Given the description of an element on the screen output the (x, y) to click on. 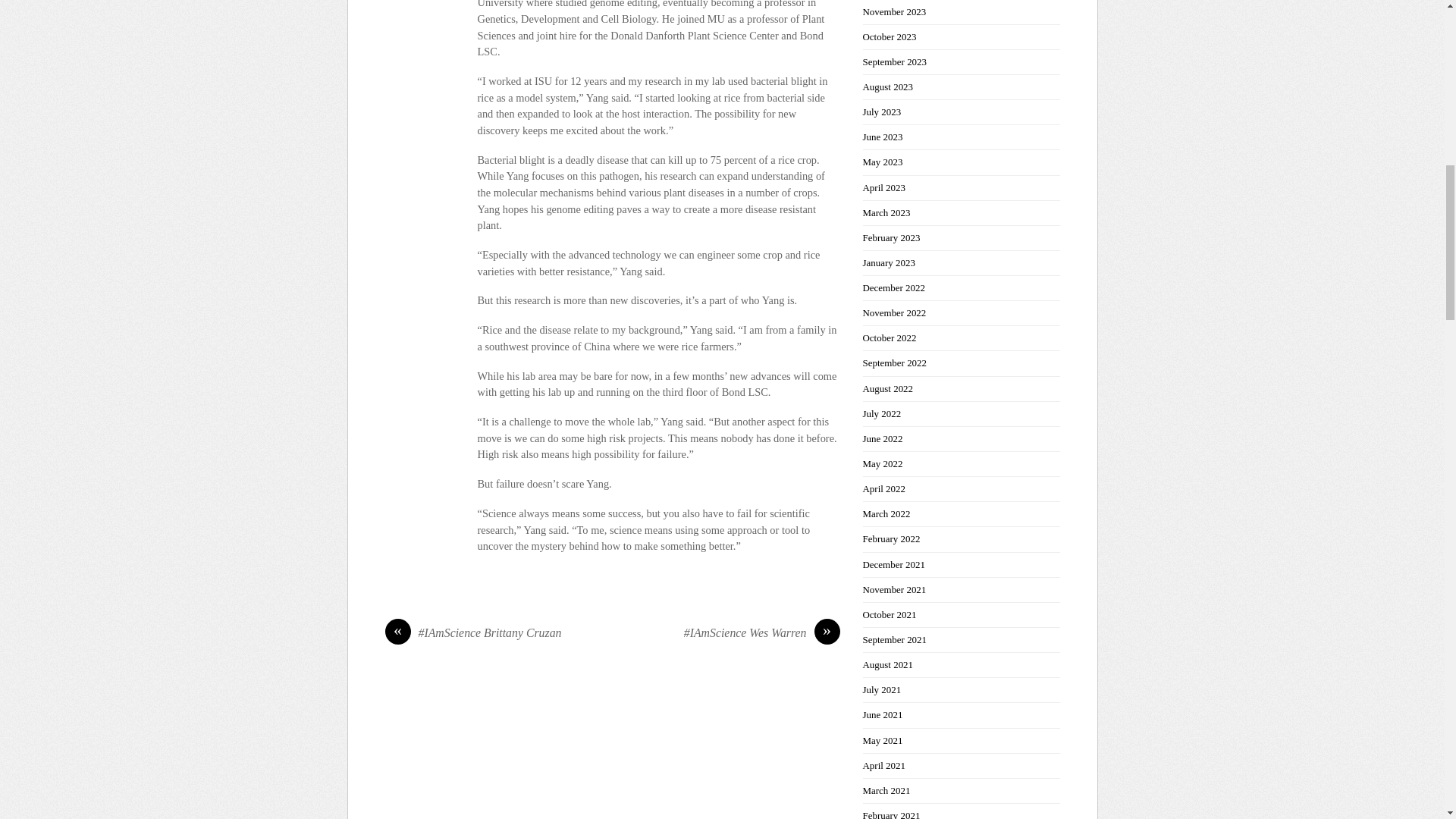
November 2023 (894, 11)
March 2023 (887, 212)
May 2023 (882, 161)
July 2023 (882, 111)
April 2023 (884, 187)
October 2023 (890, 36)
June 2023 (882, 136)
December 2022 (893, 287)
September 2023 (895, 61)
August 2023 (888, 86)
